Given the description of an element on the screen output the (x, y) to click on. 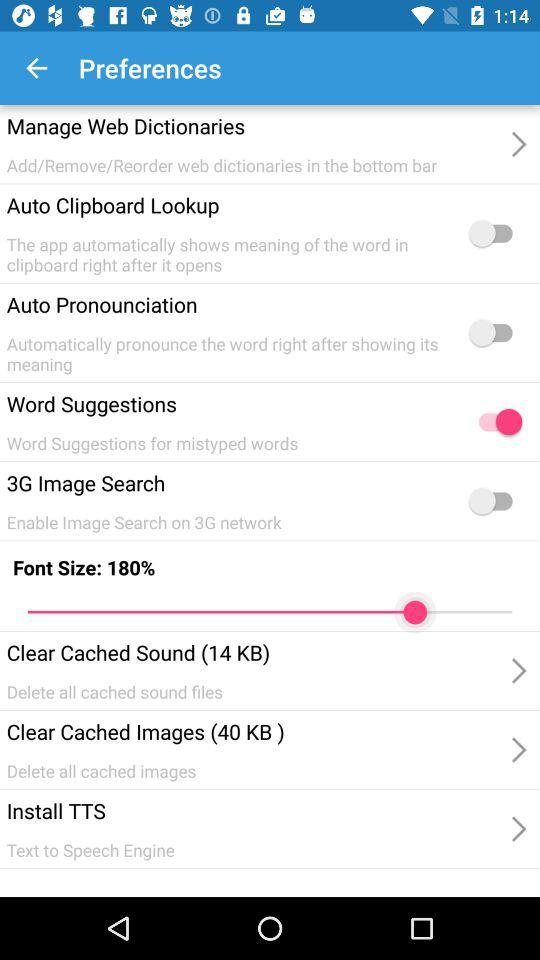
toggle clipboard lookup (495, 233)
